Given the description of an element on the screen output the (x, y) to click on. 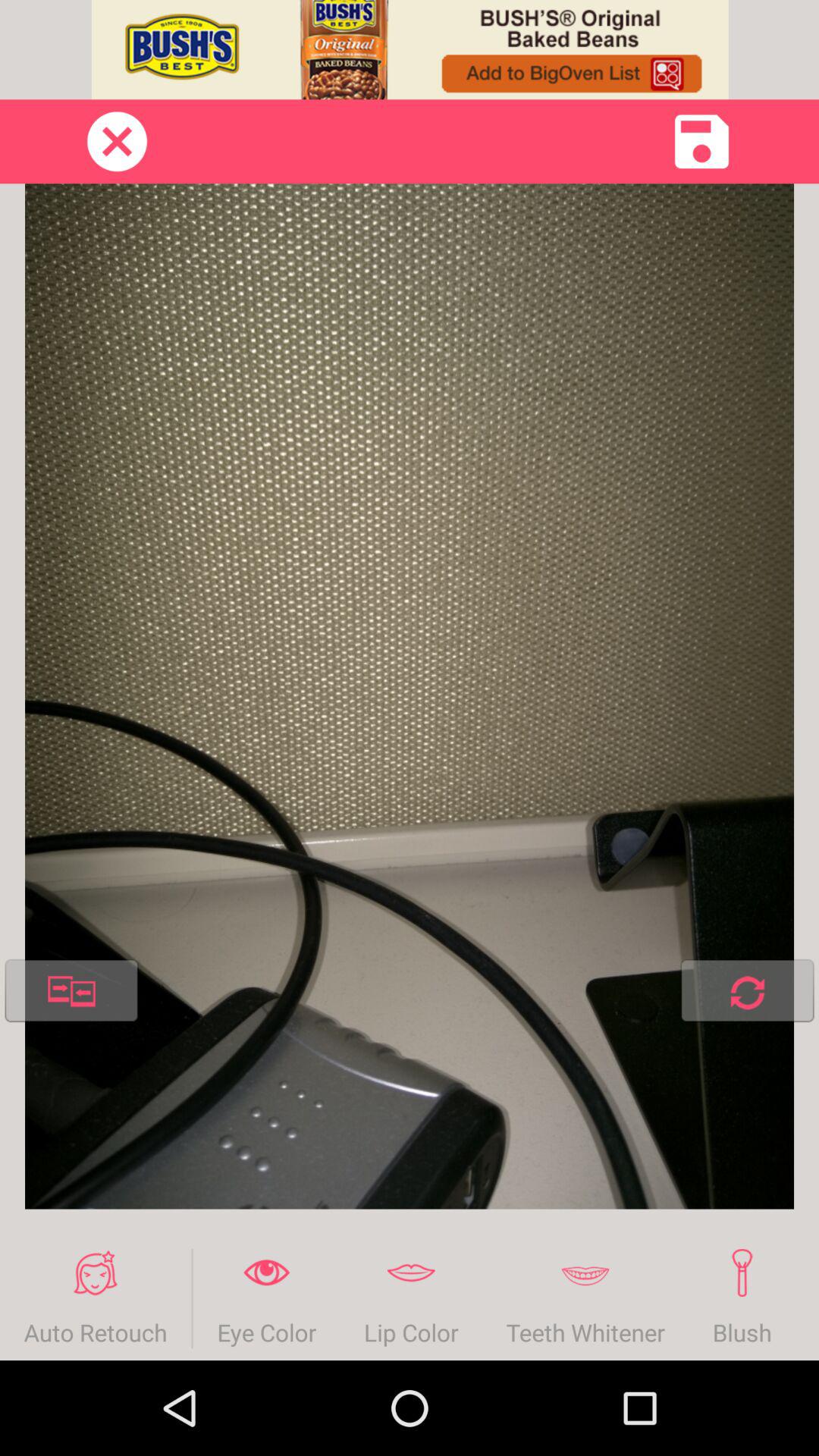
press the icon to the left of the foundation item (741, 1298)
